Given the description of an element on the screen output the (x, y) to click on. 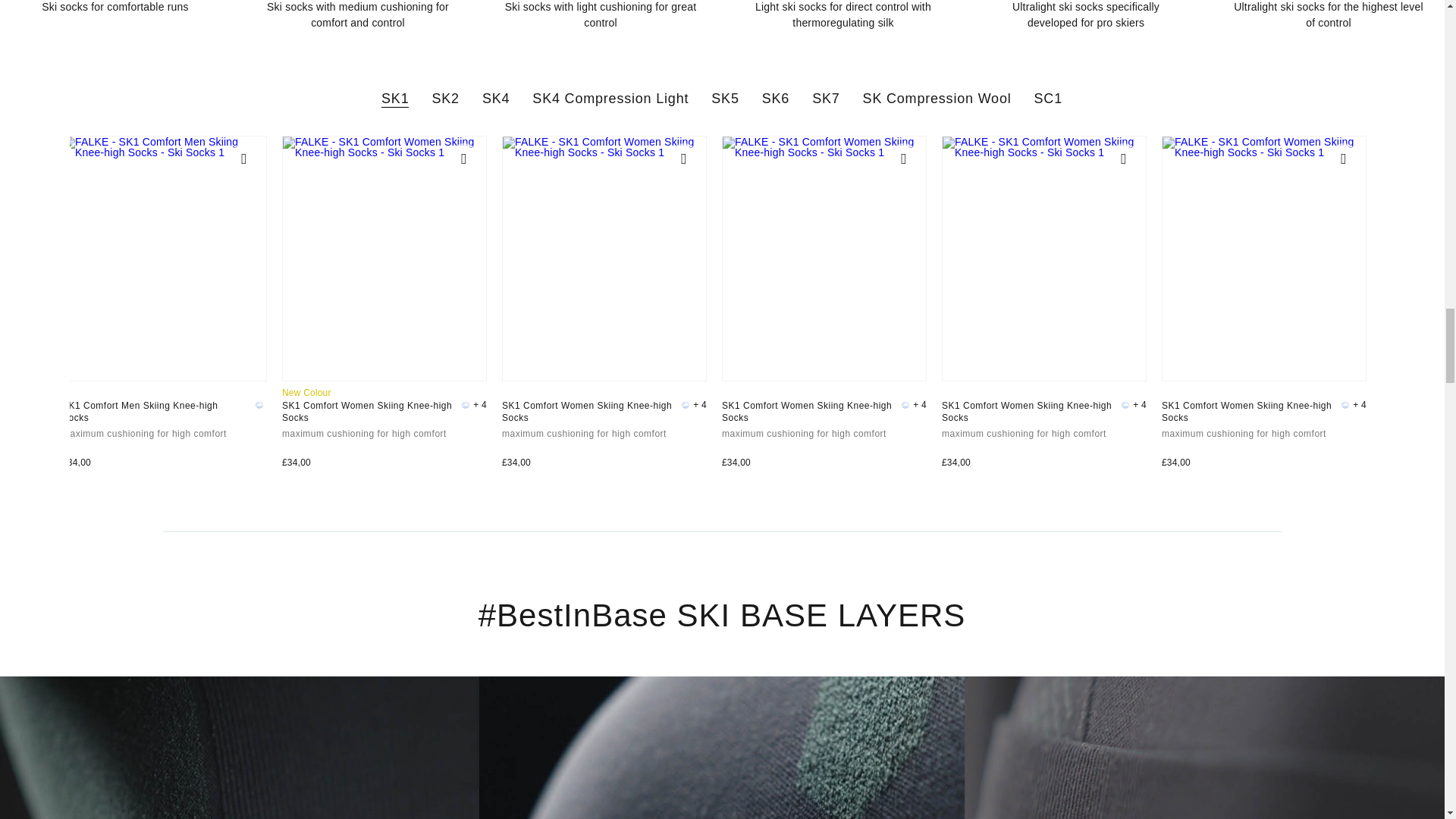
Ski socks with medium cushioning for comfort and control (358, 15)
Ultralight ski socks specifically developed for pro skiers (1086, 15)
Ski socks for comfortable runs (115, 7)
Ski socks with light cushioning for great control (600, 15)
Ultralight ski socks for the highest level of control (1328, 15)
SK1 (395, 98)
